Given the description of an element on the screen output the (x, y) to click on. 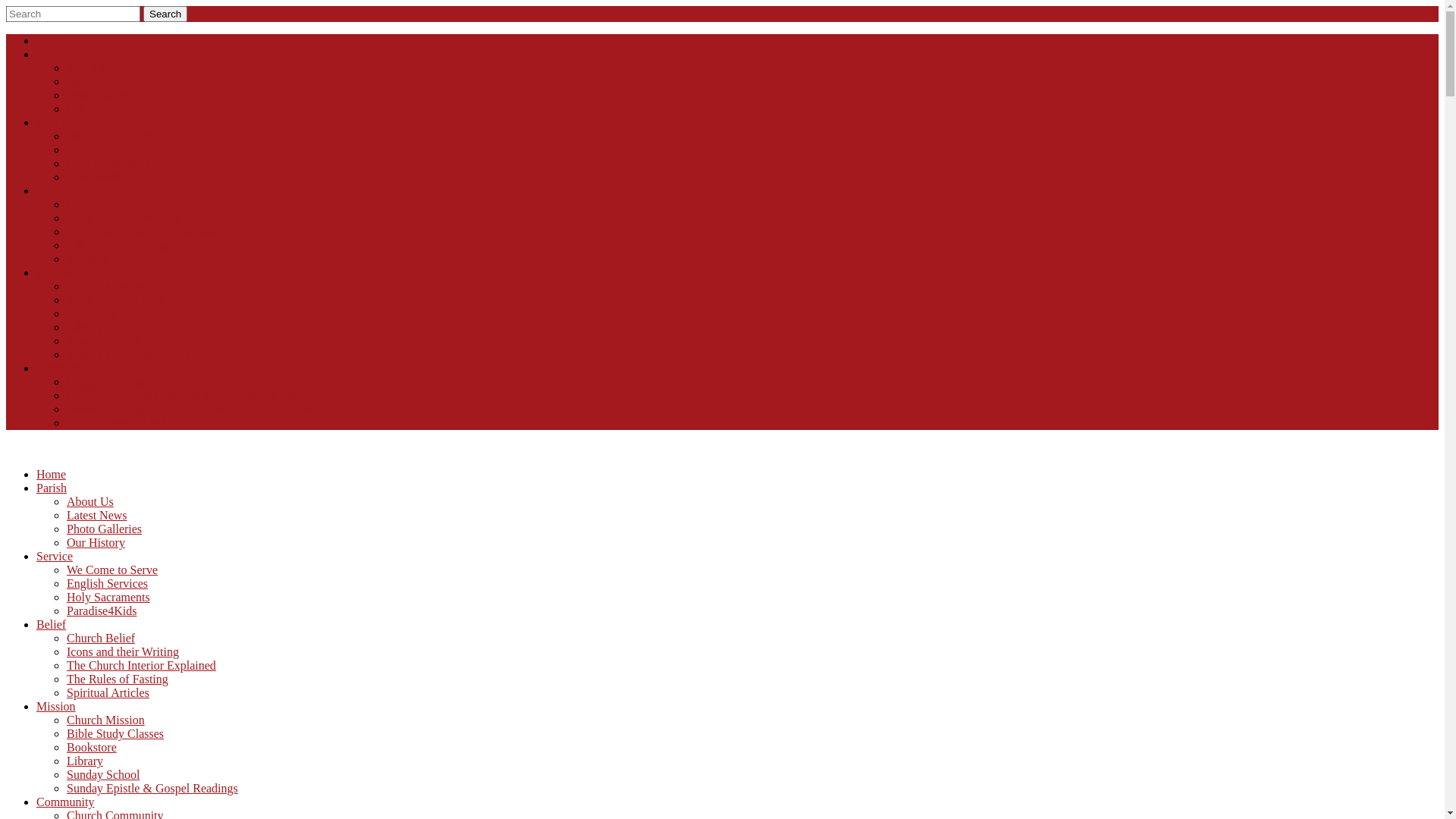
Parish Element type: text (51, 487)
Community Element type: text (65, 801)
Our History Element type: text (95, 108)
We Come to Serve Element type: text (111, 135)
Library Element type: text (84, 326)
The Church Interior Explained Element type: text (141, 664)
The Rules of Fasting Element type: text (117, 244)
Bookstore Element type: text (91, 313)
Paradise4Kids Element type: text (101, 610)
Greek Language and Culture Institute of Evangelismos Element type: text (200, 408)
About Us Element type: text (89, 501)
Church Mission Element type: text (105, 285)
Service Element type: text (54, 555)
The Rules of Fasting Element type: text (117, 678)
Parish Element type: text (51, 53)
Paradise4Kids Element type: text (101, 176)
Spiritual Articles Element type: text (107, 692)
Belief Element type: text (50, 190)
Community Element type: text (65, 367)
Icons and their Writing Element type: text (122, 217)
The Church Interior Explained Element type: text (141, 231)
Church Community Element type: text (114, 381)
Sunday School Element type: text (102, 340)
Bible Study Classes Element type: text (114, 299)
About Us Element type: text (89, 67)
Church Belief Element type: text (100, 637)
Holy Sacraments Element type: text (108, 596)
Sunday School Element type: text (102, 774)
Service Element type: text (54, 122)
Sunday Epistle & Gospel Readings Element type: text (152, 354)
Home Element type: text (50, 40)
Latest News Element type: text (96, 81)
English Services Element type: text (106, 583)
Search Element type: text (165, 13)
Library Element type: text (84, 760)
Parish Directory WA Element type: text (117, 422)
Our History Element type: text (95, 542)
Home Element type: text (50, 473)
Belief Element type: text (50, 624)
We Come to Serve Element type: text (111, 569)
Photo Galleries Element type: text (103, 94)
Church Belief Element type: text (100, 203)
Latest News Element type: text (96, 514)
Bookstore Element type: text (91, 746)
Spiritual Articles Element type: text (107, 258)
Church Mission Element type: text (105, 719)
Photo Galleries Element type: text (103, 528)
Mission Element type: text (55, 272)
English Services Element type: text (106, 149)
Holy Sacraments Element type: text (108, 162)
Icons and their Writing Element type: text (122, 651)
Mission Element type: text (55, 705)
Bible Study Classes Element type: text (114, 733)
Sunday Epistle & Gospel Readings Element type: text (152, 787)
